Given the description of an element on the screen output the (x, y) to click on. 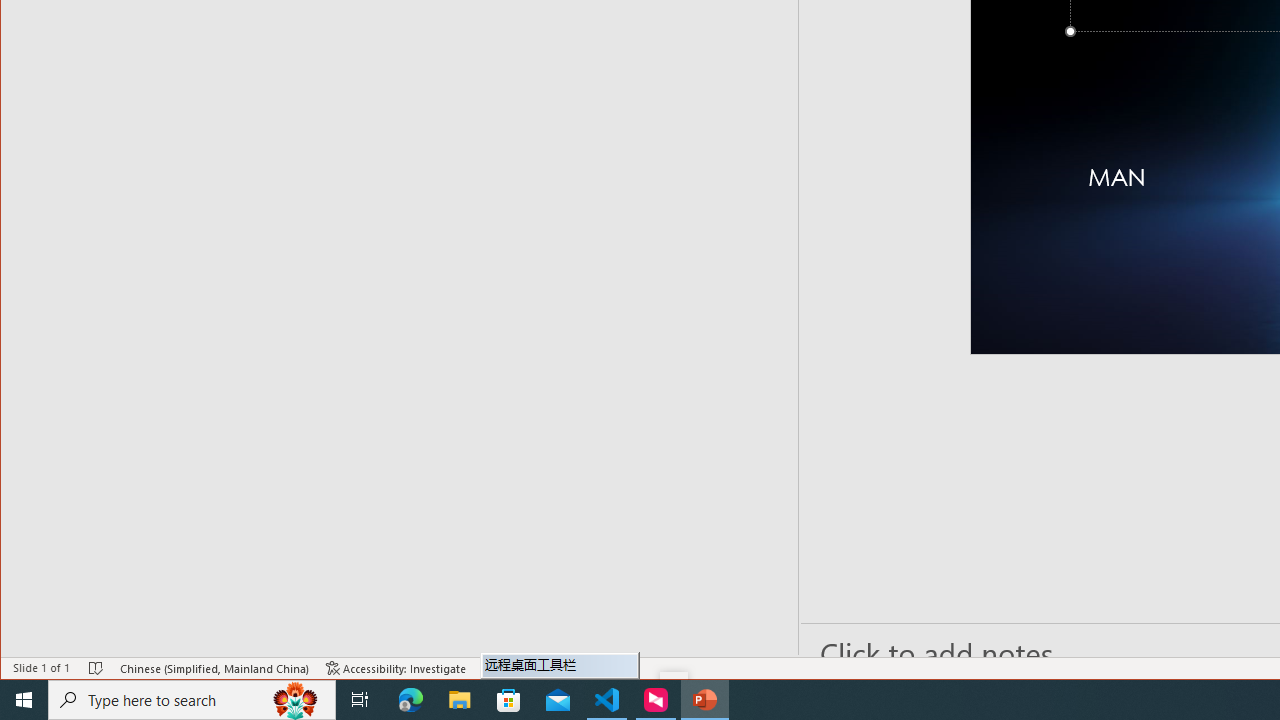
Microsoft Edge (411, 699)
